Given the description of an element on the screen output the (x, y) to click on. 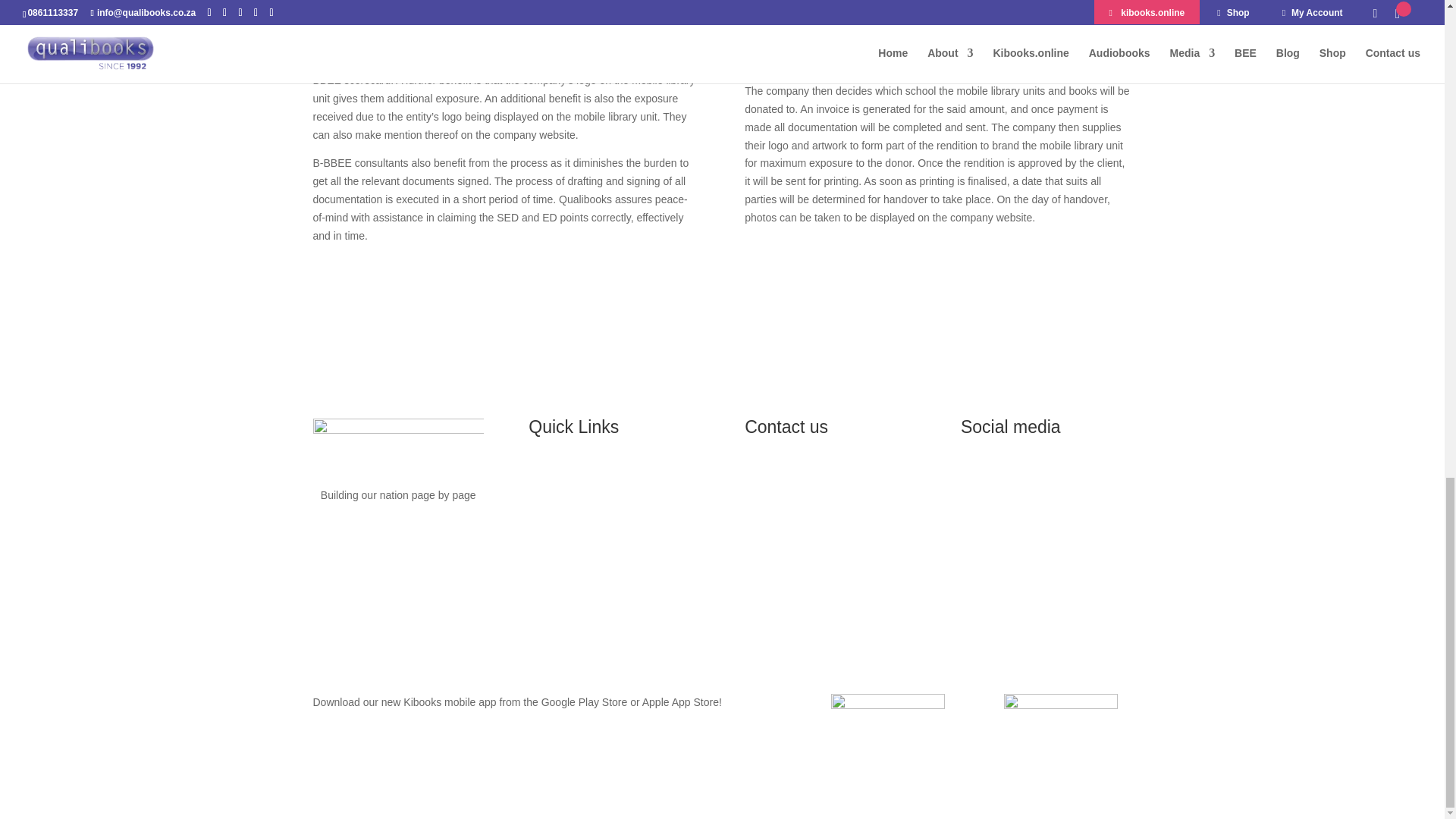
ios (887, 712)
Follow on Youtube (1076, 478)
FAQ (614, 510)
Follow on Instagram (1045, 478)
QB-Since-1992-white (398, 441)
Follow on Facebook (985, 478)
play (1061, 712)
Follow on X (1015, 478)
Copyright (614, 491)
Privacy Policy (613, 474)
